Given the description of an element on the screen output the (x, y) to click on. 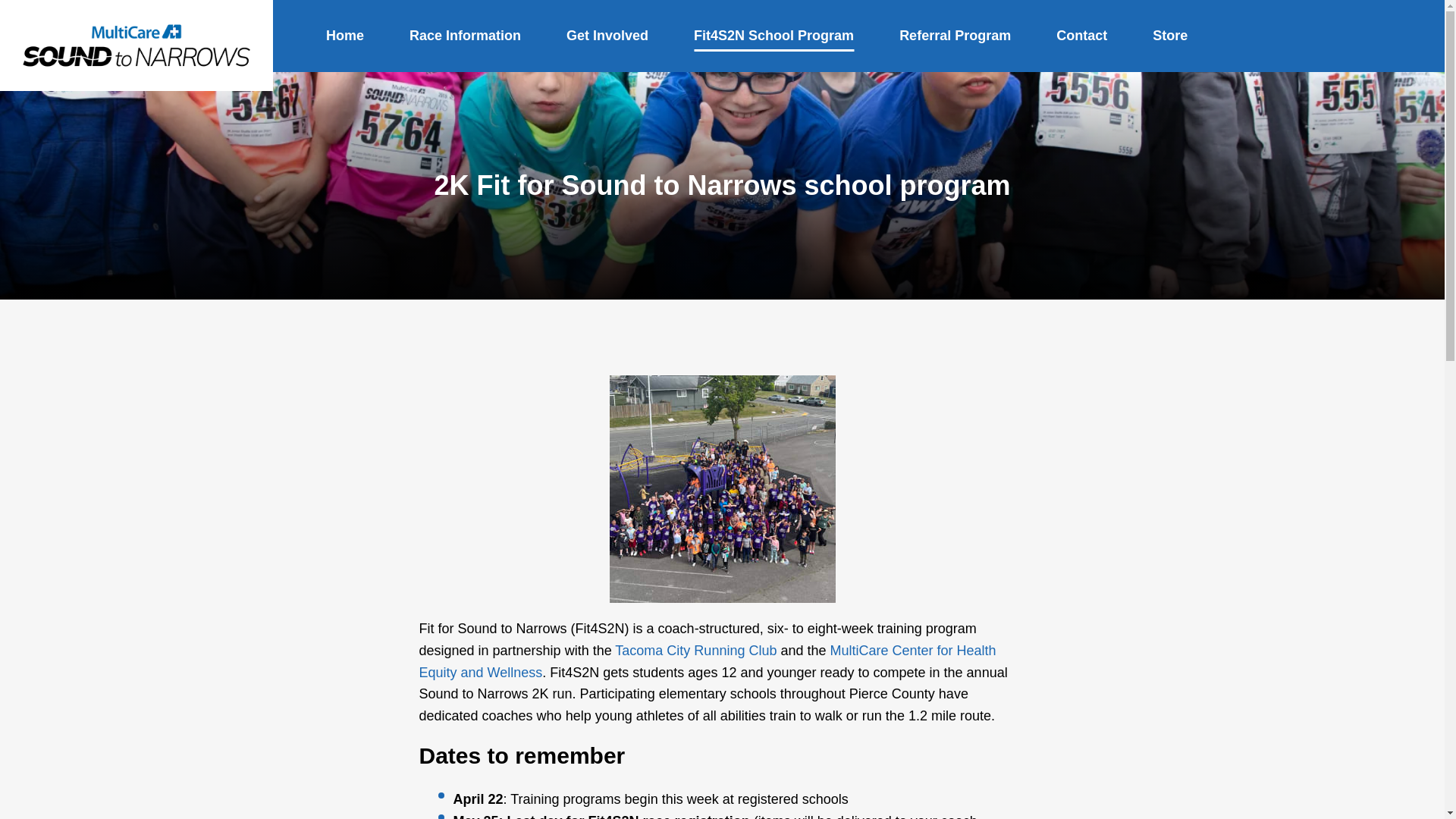
MultiCare Center for Health Equity and Wellness (707, 661)
Get Involved (606, 36)
Home (345, 36)
Fit4S2N School Program (773, 36)
Race Information (465, 36)
Store (1170, 36)
Tacoma City Running Club (695, 650)
Contact (1081, 36)
Referral Program (954, 36)
